Given the description of an element on the screen output the (x, y) to click on. 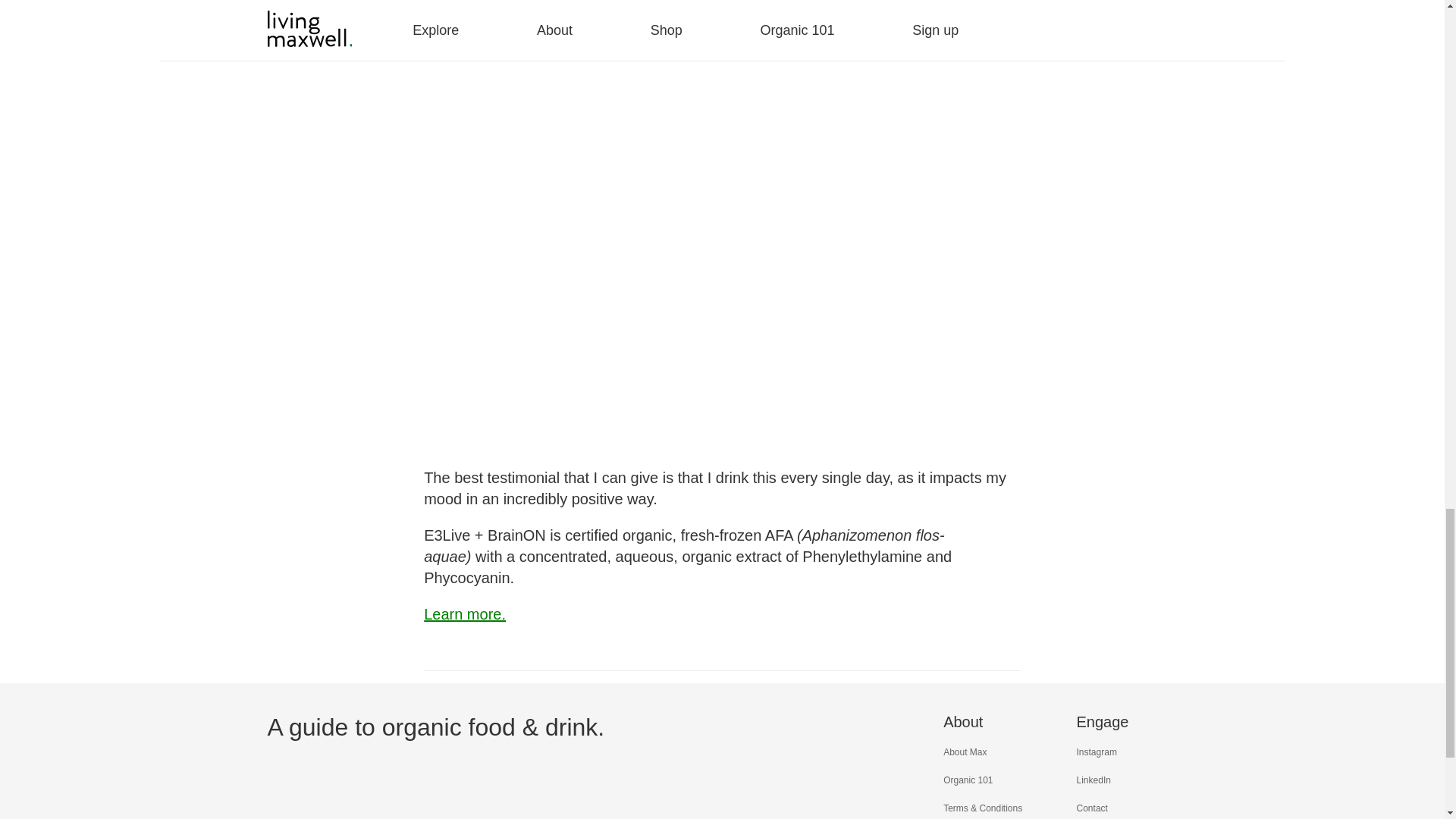
Contact (1092, 808)
About Max (965, 751)
Organic 101 (967, 779)
Learn more. (464, 614)
LinkedIn (1093, 779)
Instagram (1096, 751)
